Given the description of an element on the screen output the (x, y) to click on. 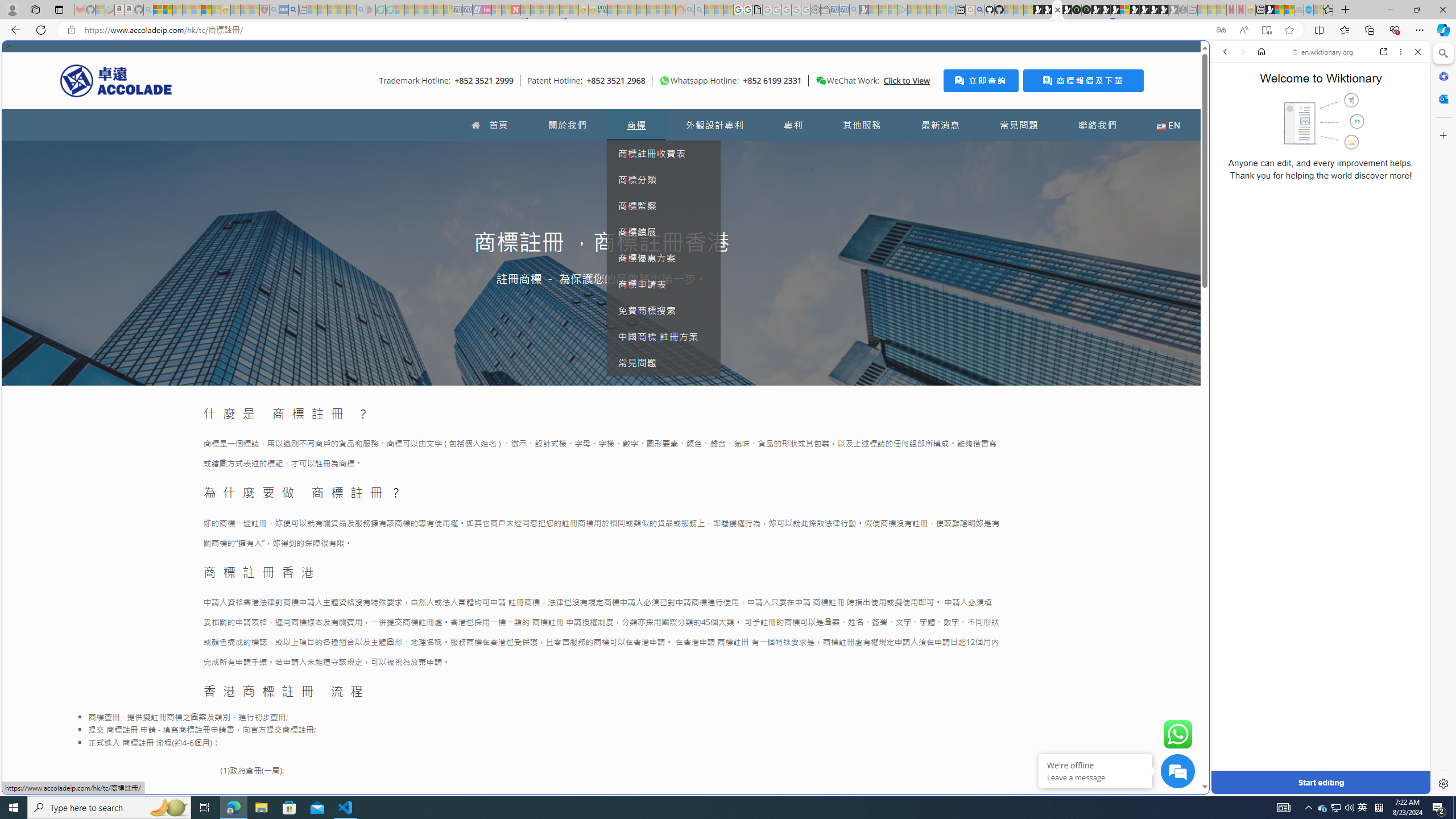
DITOGAMES AG Imprint (602, 9)
World - MSN (1279, 9)
Home | Sky Blue Bikes - Sky Blue Bikes (1118, 242)
